Given the description of an element on the screen output the (x, y) to click on. 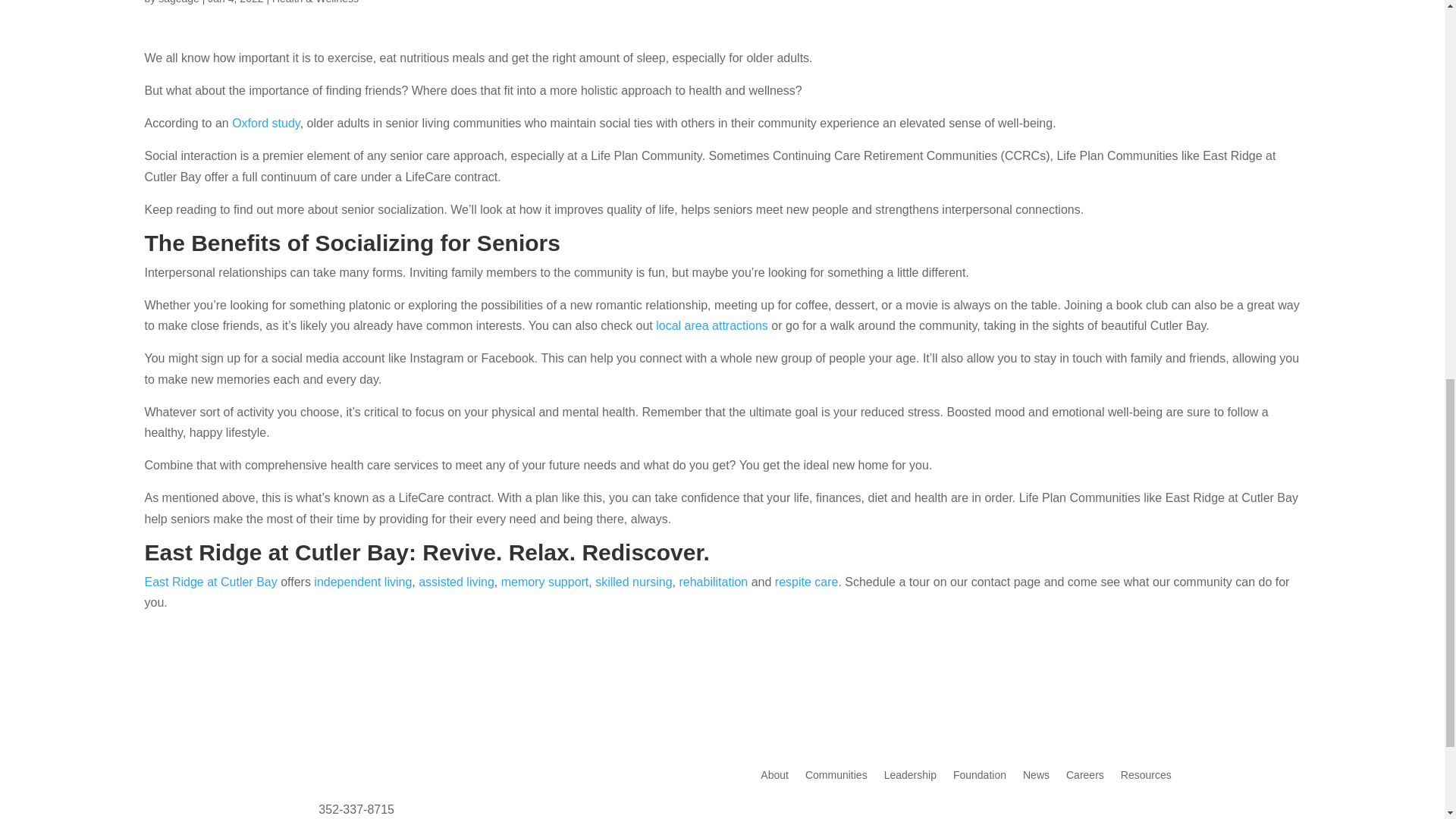
memory support (544, 581)
East Ridge at Cutler Bay (210, 581)
respite care (806, 581)
Oxford study (265, 123)
Posts by sageage (178, 2)
local area attractions (712, 325)
rehabilitation (713, 581)
sageage (178, 2)
assisted living (457, 581)
independent living (363, 581)
